Given the description of an element on the screen output the (x, y) to click on. 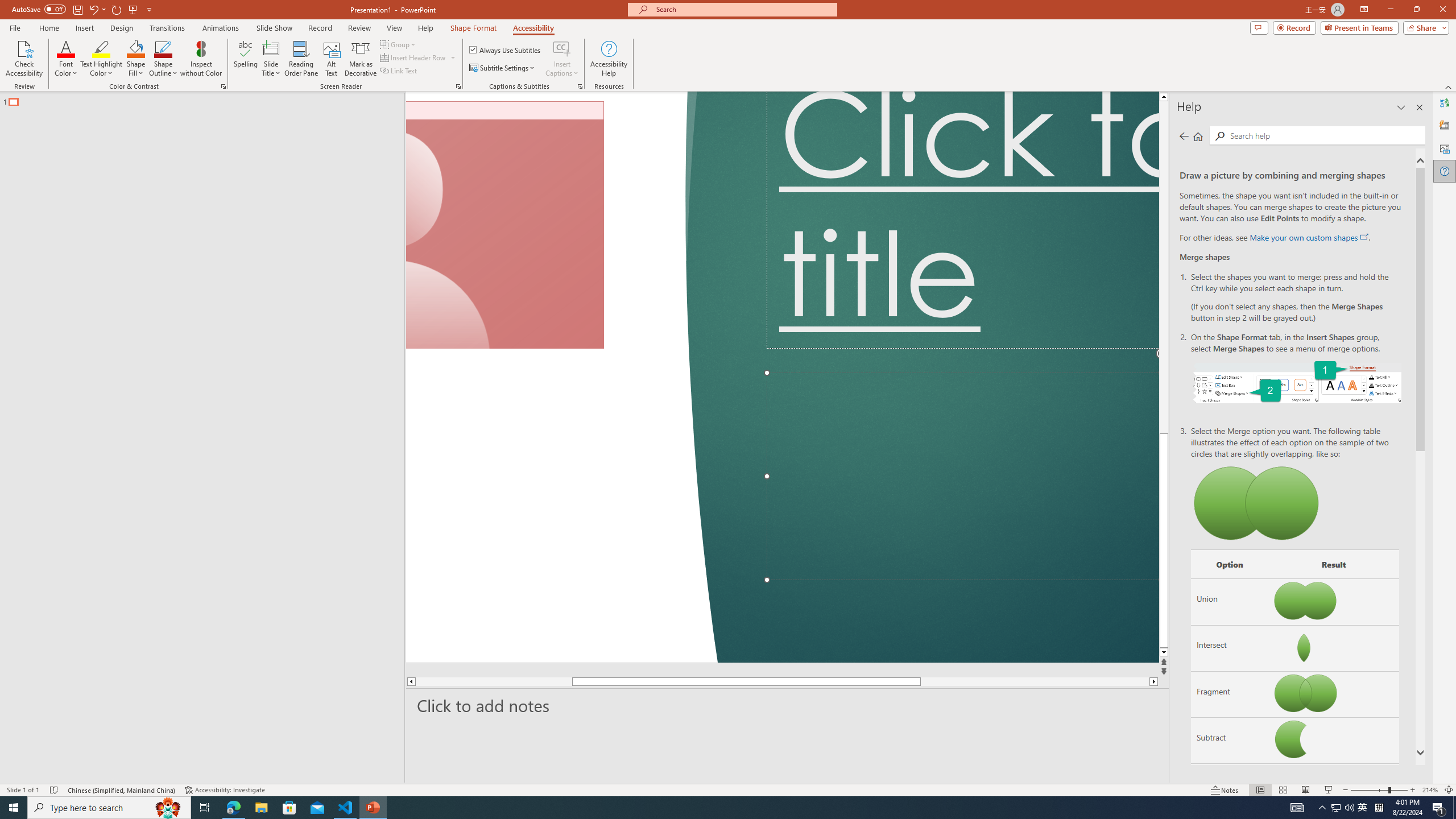
Camera 7, No camera detected. (505, 224)
Accessibility Help (608, 58)
openinnewwindow (1363, 237)
Reading Order Pane (301, 58)
Screen Reader (458, 85)
